Given the description of an element on the screen output the (x, y) to click on. 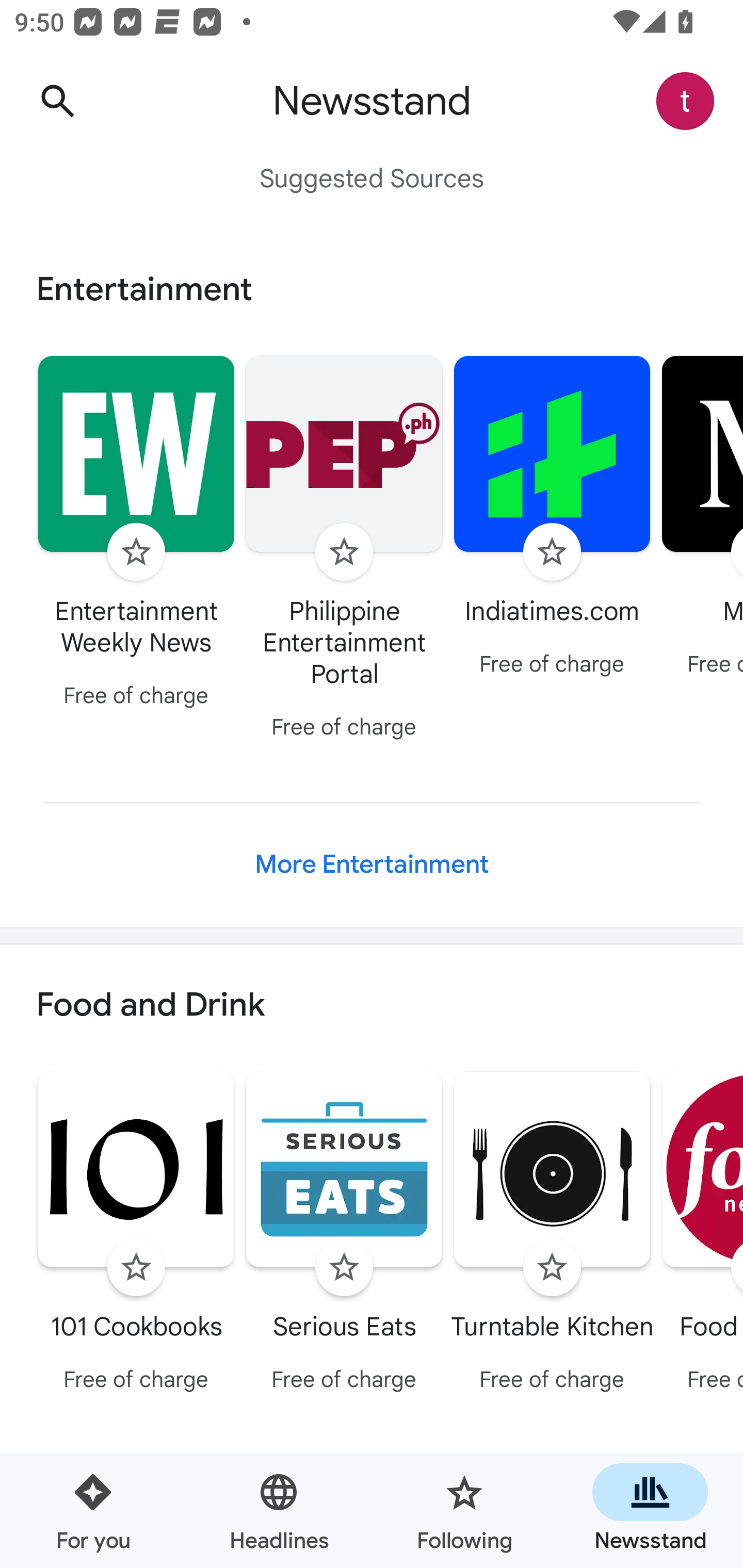
Search (57, 100)
Entertainment (371, 288)
Follow Entertainment Weekly News Free of charge (136, 534)
Follow Indiatimes.com Free of charge (552, 517)
Follow (135, 551)
Follow (343, 551)
Follow (552, 551)
More Entertainment (371, 864)
Food and Drink (371, 1005)
Follow 101 Cookbooks Free of charge (136, 1234)
Follow Serious Eats Free of charge (344, 1234)
Follow Turntable Kitchen Free of charge (552, 1234)
Follow (135, 1267)
Follow (343, 1267)
Follow (552, 1267)
For you (92, 1509)
Headlines (278, 1509)
Following (464, 1509)
Newsstand (650, 1509)
